Given the description of an element on the screen output the (x, y) to click on. 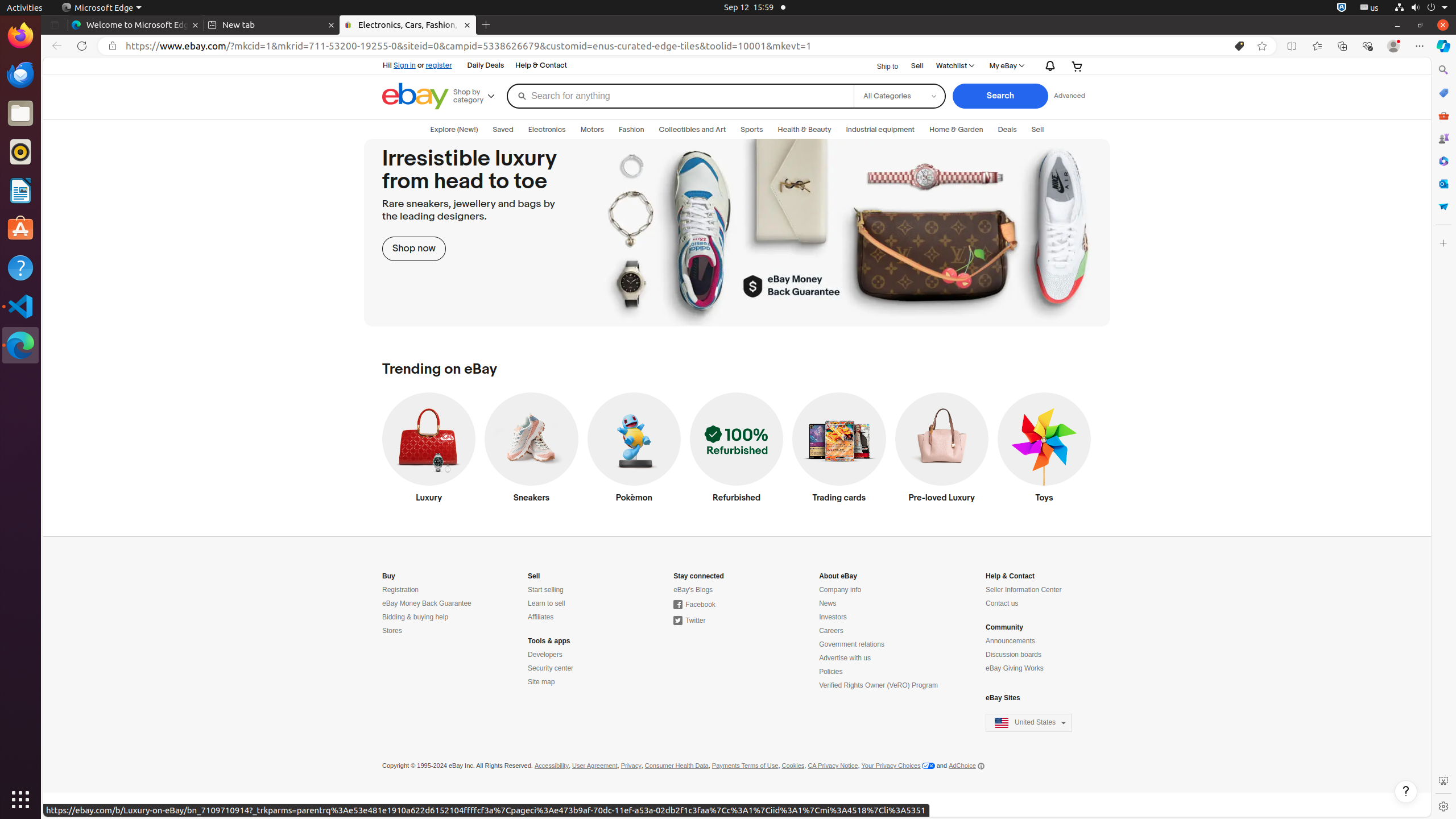
New Tab Element type: push-button (486, 25)
Electronics, Cars, Fashion, Collectibles & More | eBay Element type: page-tab (407, 25)
Ubuntu Software Element type: push-button (20, 229)
Bidding & buying help Element type: link (415, 617)
Collectibles and Art Element type: link (692, 129)
